Given the description of an element on the screen output the (x, y) to click on. 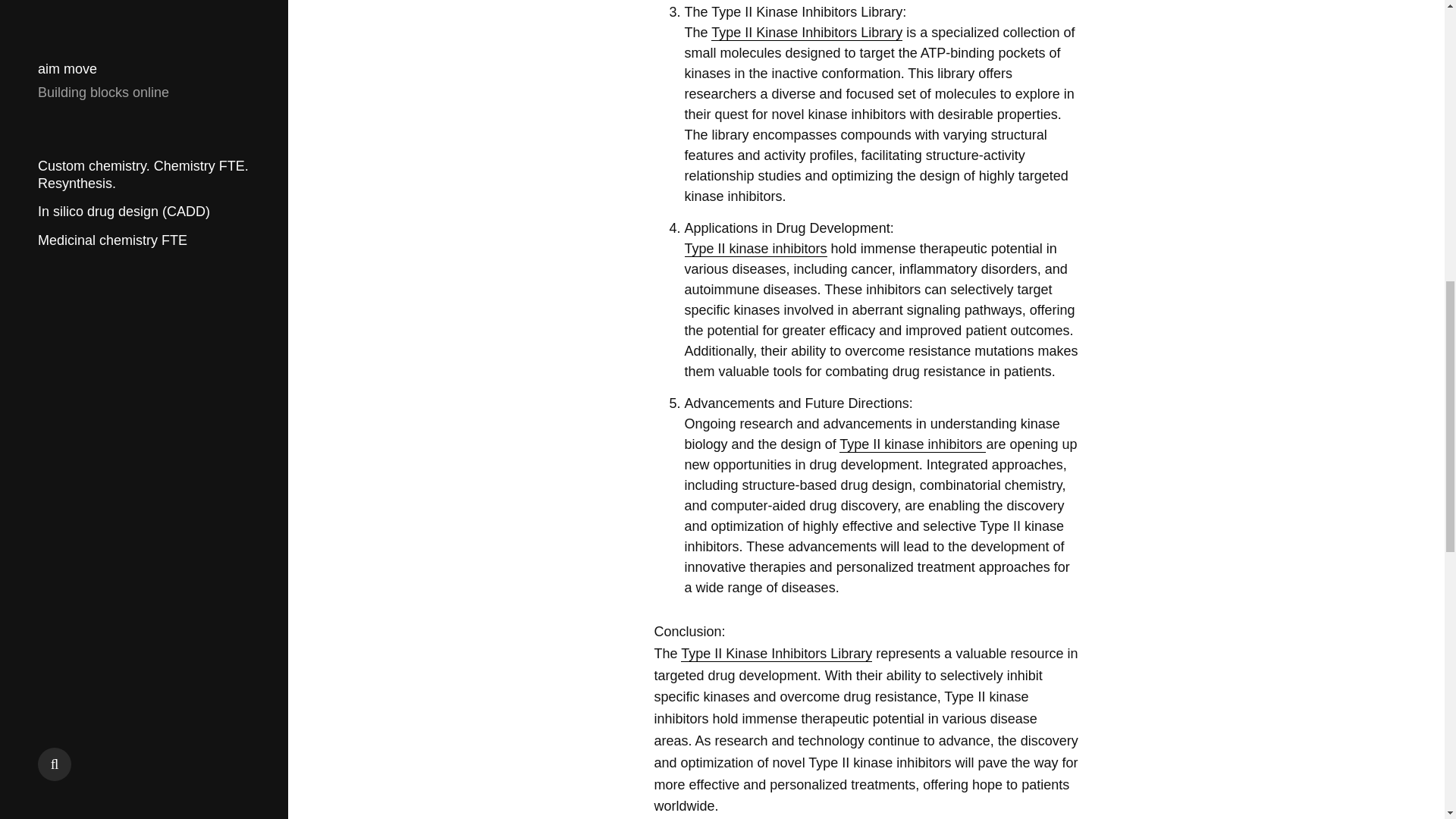
Type II kinase inhibitors (912, 444)
Type II Kinase Inhibitors Library (776, 653)
Type II kinase inhibitors (755, 248)
Type II Kinase Inhibitors Library (806, 32)
